Given the description of an element on the screen output the (x, y) to click on. 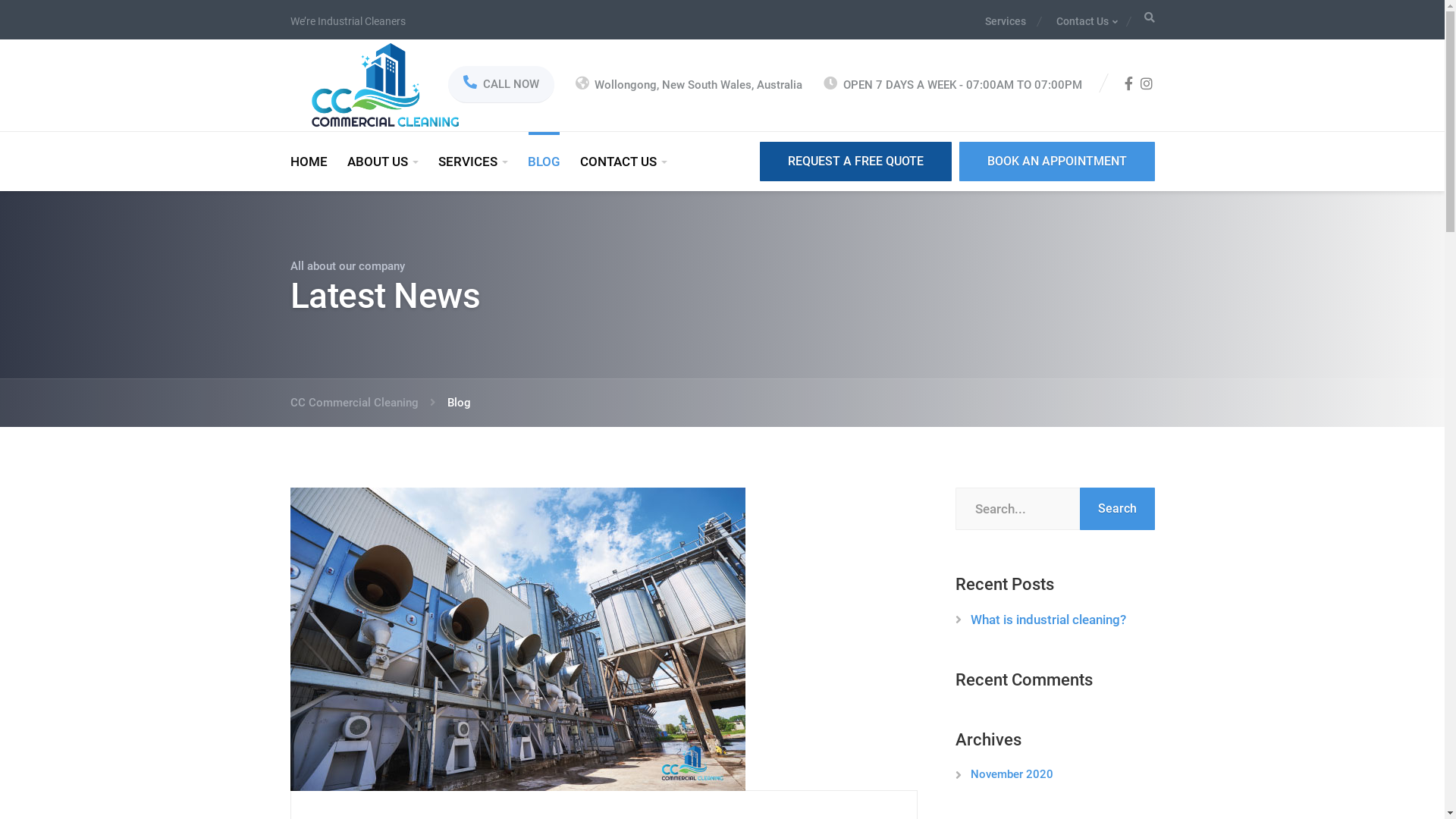
November 2020 Element type: text (1011, 774)
SERVICES Element type: text (472, 161)
ABOUT US Element type: text (382, 161)
CC Commercial Cleaning Element type: hover (384, 83)
Search Element type: text (1010, 409)
HOME Element type: text (312, 161)
Contact Us Element type: text (1077, 21)
Services Element type: text (1011, 21)
What is industrial cleaning? Element type: text (1048, 619)
CONTACT US Element type: text (623, 161)
CC Commercial Cleaning Element type: text (362, 402)
REQUEST A FREE QUOTE Element type: text (855, 161)
CALL NOW Element type: text (500, 84)
Search Element type: text (1116, 508)
BOOK AN APPOINTMENT Element type: text (1056, 161)
BLOG Element type: text (542, 161)
